Given the description of an element on the screen output the (x, y) to click on. 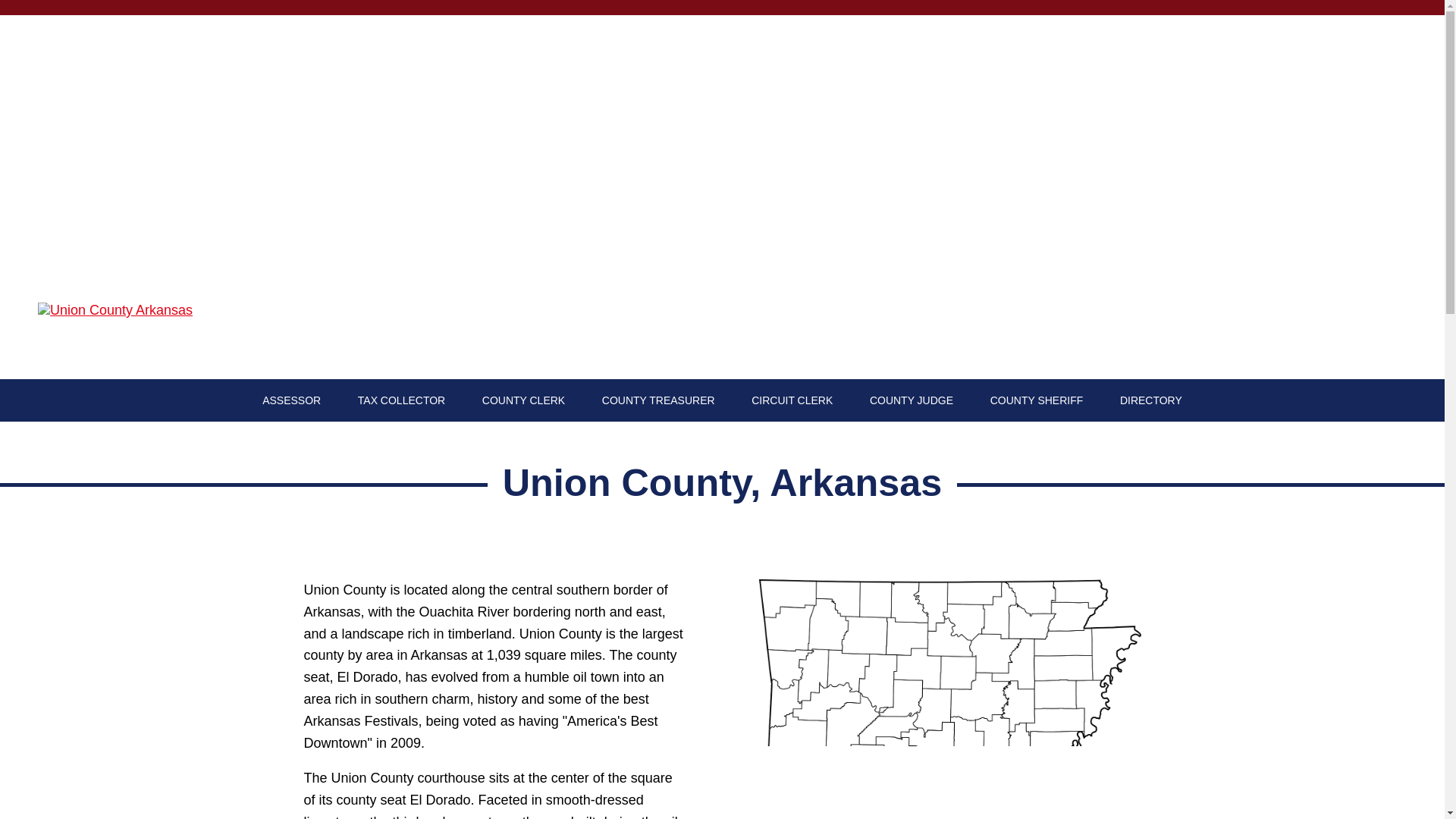
TAX COLLECTOR (401, 400)
COUNTY TREASURER (658, 400)
CIRCUIT CLERK (792, 400)
DIRECTORY (1150, 400)
COUNTY JUDGE (910, 400)
COUNTY CLERK (523, 400)
COUNTY SHERIFF (1036, 400)
ASSESSOR (291, 400)
